Given the description of an element on the screen output the (x, y) to click on. 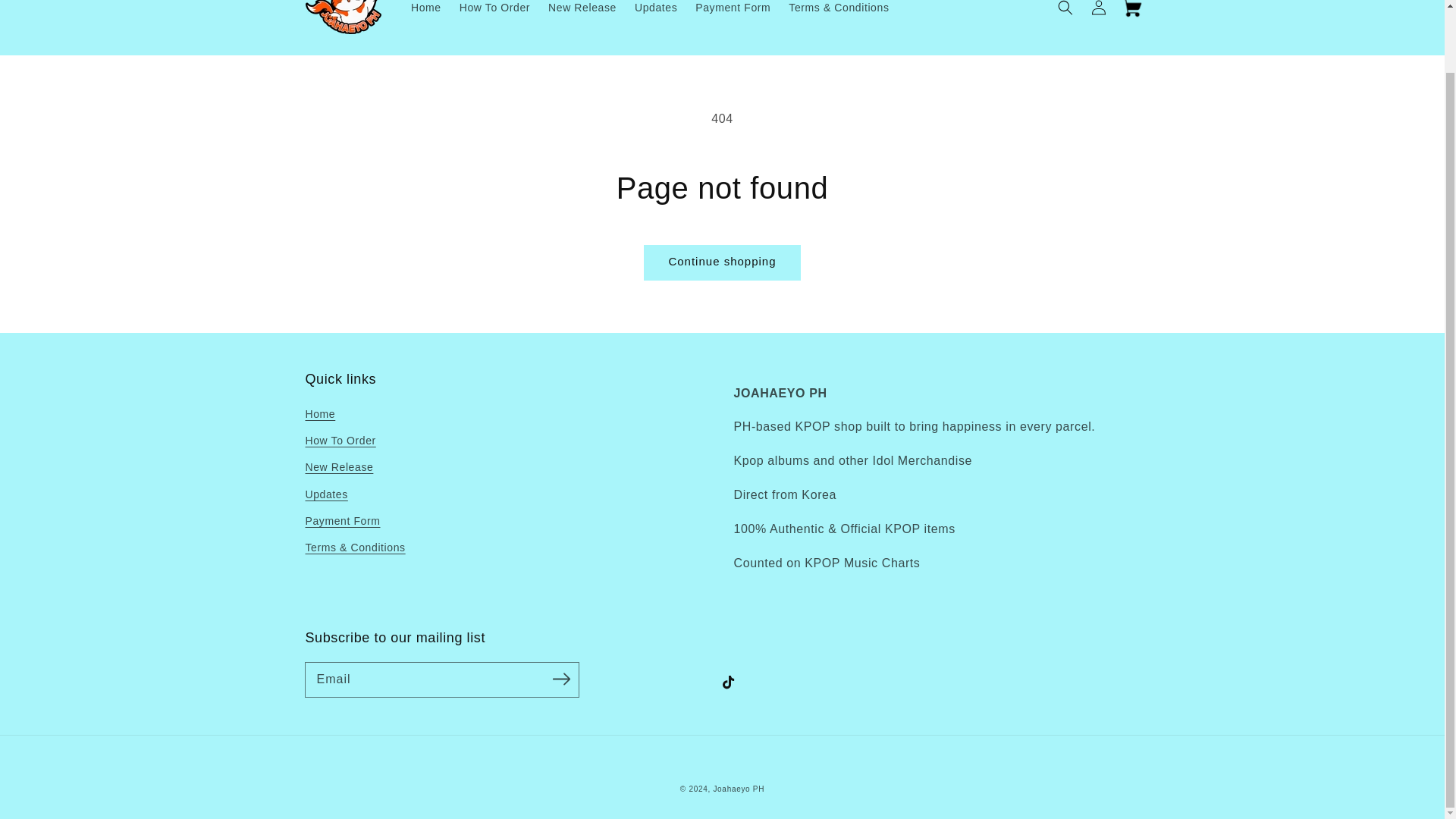
Payment Form (731, 11)
New Release (582, 11)
New Release (338, 467)
Log in (1098, 12)
Continue shopping (722, 262)
Updates (655, 11)
Payment Form (342, 520)
How To Order (493, 11)
Home (425, 11)
Cart (1131, 12)
Home (319, 415)
How To Order (339, 440)
Updates (325, 494)
